Given the description of an element on the screen output the (x, y) to click on. 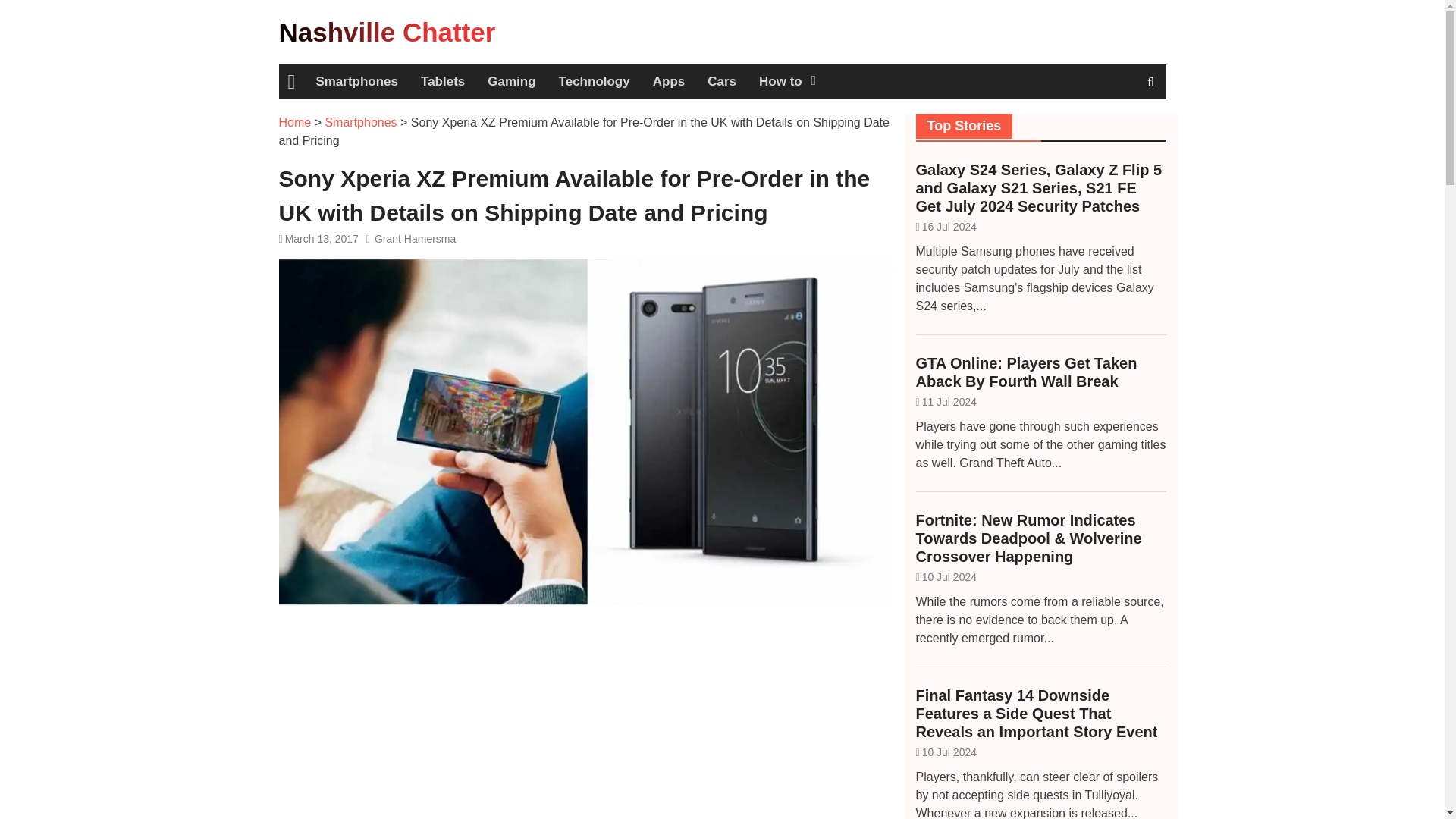
Tablets (442, 81)
Advertisement (586, 721)
Technology (594, 81)
March 13, 2017 (321, 238)
Smartphones (360, 122)
How to (786, 81)
Grant Hamersma (414, 238)
Gaming (511, 81)
Smartphones (356, 81)
Home (295, 122)
Nashville Chatter (387, 31)
Apps (669, 81)
Cars (721, 81)
